Given the description of an element on the screen output the (x, y) to click on. 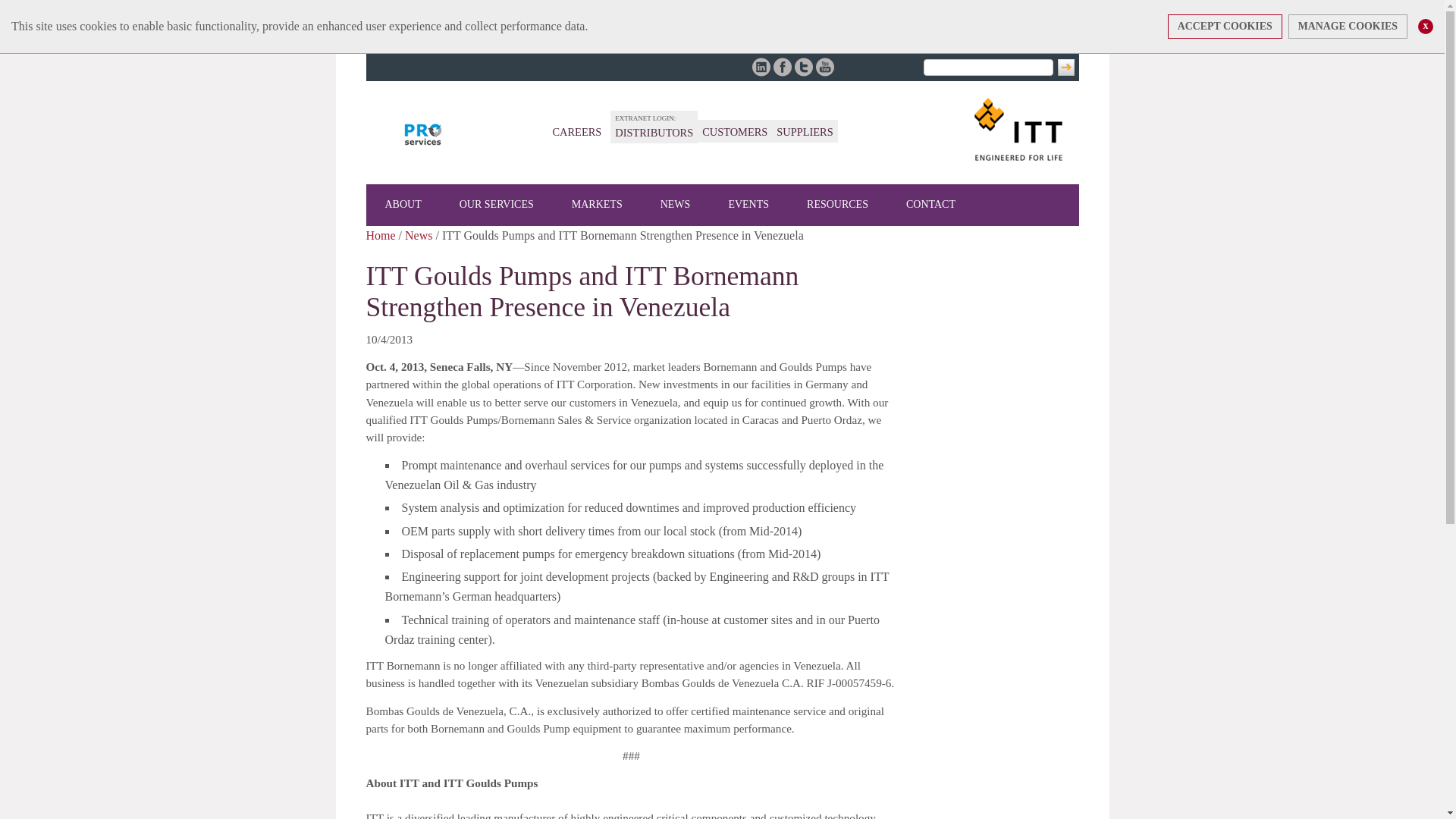
Linked In (761, 66)
CAREERS (576, 132)
DISTRIBUTORS (653, 132)
MANAGE COOKIES (1347, 26)
Facebook (782, 66)
SUPPLIERS (804, 132)
YouTube (824, 66)
CUSTOMERS (734, 132)
x (1425, 26)
Twitter (803, 66)
Goulds Pumps (423, 134)
ACCEPT COOKIES (1224, 26)
